Given the description of an element on the screen output the (x, y) to click on. 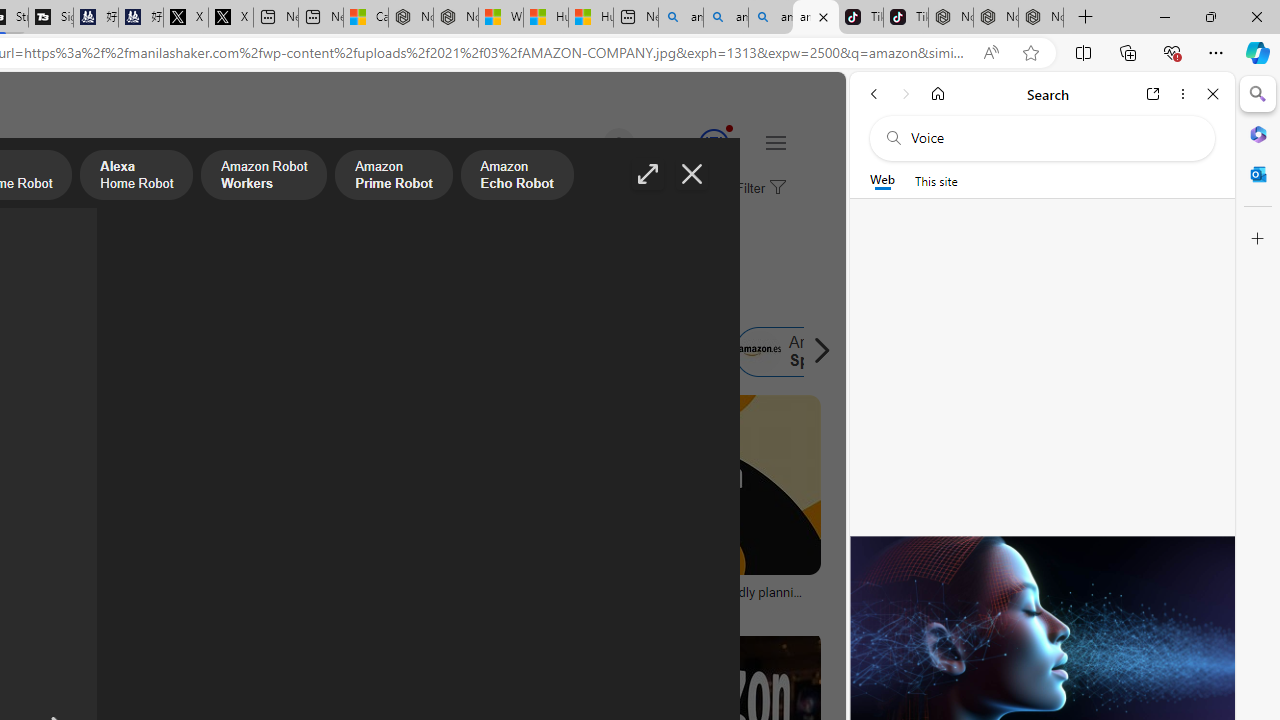
theverge.com (599, 605)
This site scope (936, 180)
Amazon Prime Robot (394, 177)
Microsoft Rewards 135 (690, 143)
